Given the description of an element on the screen output the (x, y) to click on. 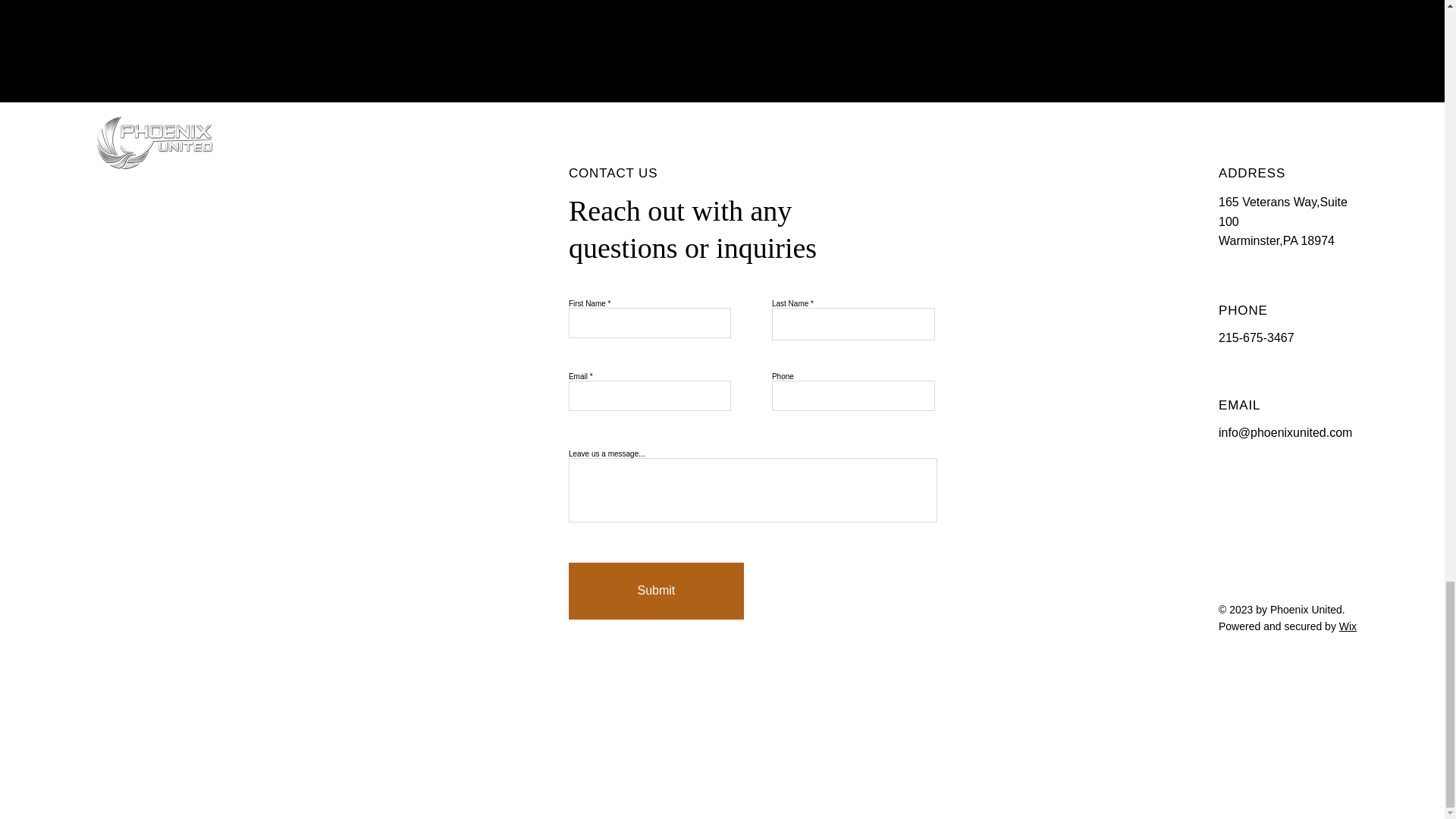
Wix (1347, 625)
Submit (656, 590)
